Given the description of an element on the screen output the (x, y) to click on. 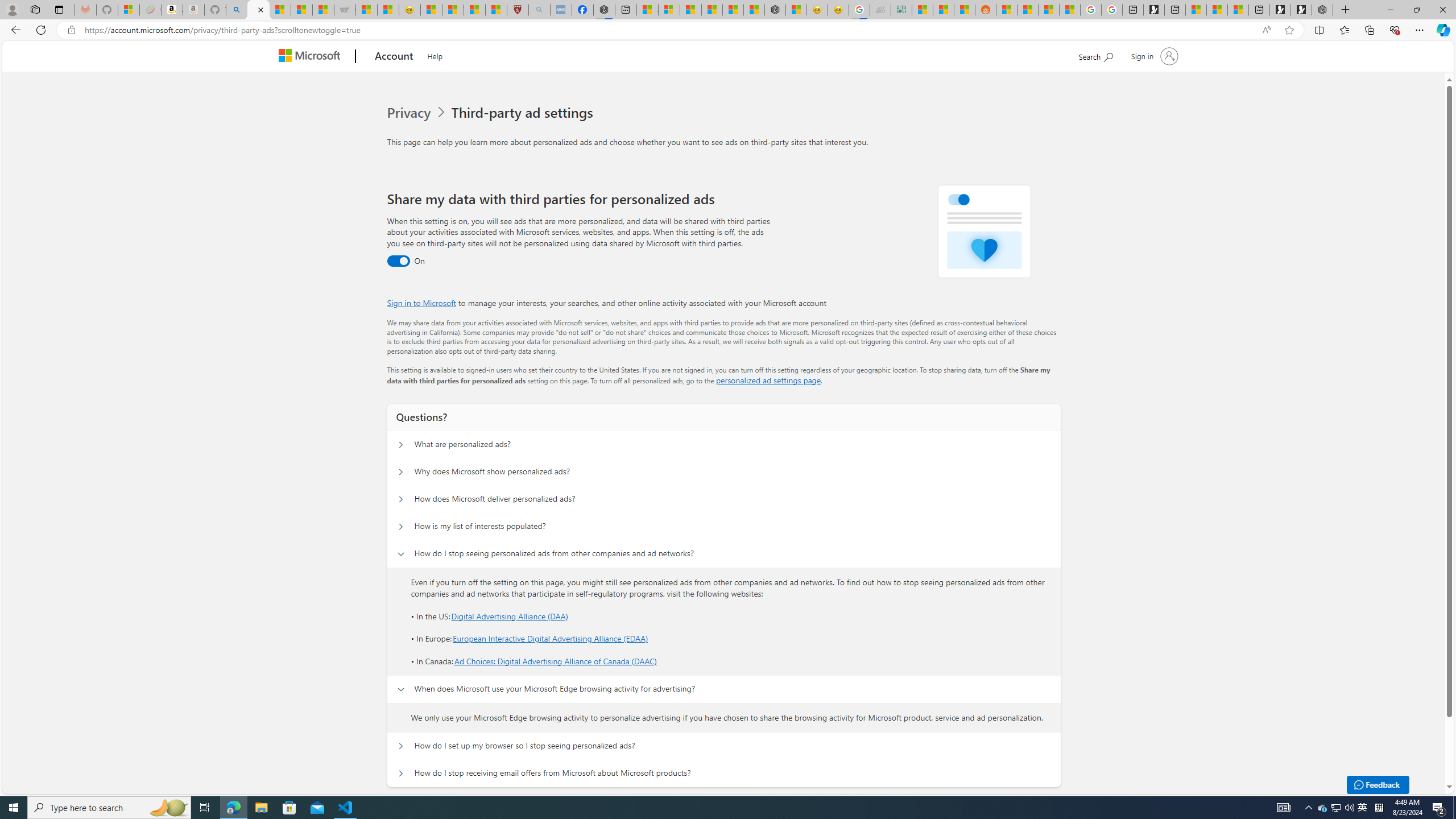
Play Free Online Games | Games from Microsoft Start (1300, 9)
Science - MSN (474, 9)
NCL Adult Asthma Inhaler Choice Guideline - Sleeping (561, 9)
Sign in to your account (1153, 55)
Stocks - MSN (323, 9)
Help (434, 54)
R******* | Trusted Community Engagement and Contributions (1006, 9)
Privacy (410, 112)
